Given the description of an element on the screen output the (x, y) to click on. 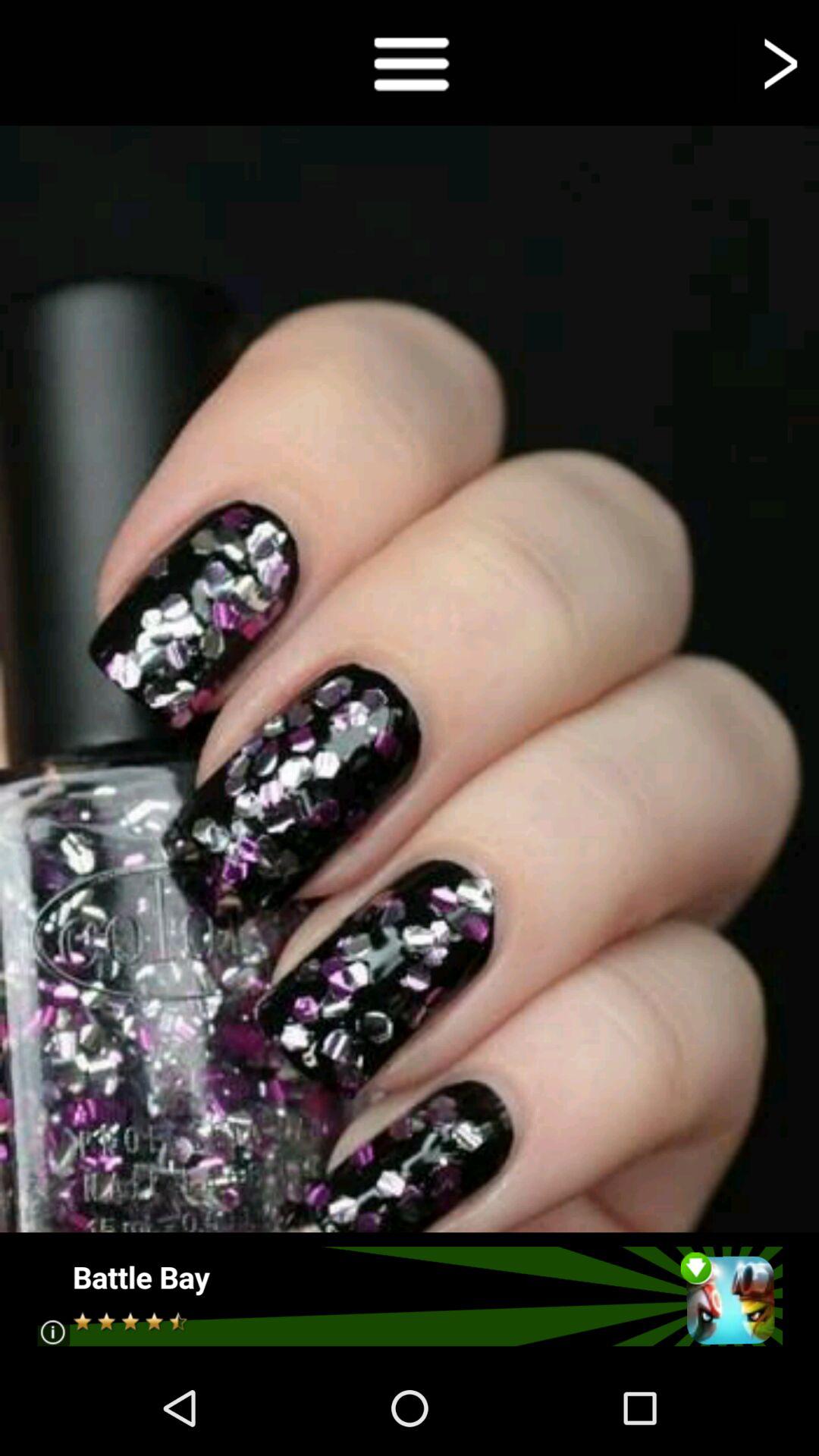
turn on icon at the bottom (408, 1296)
